Given the description of an element on the screen output the (x, y) to click on. 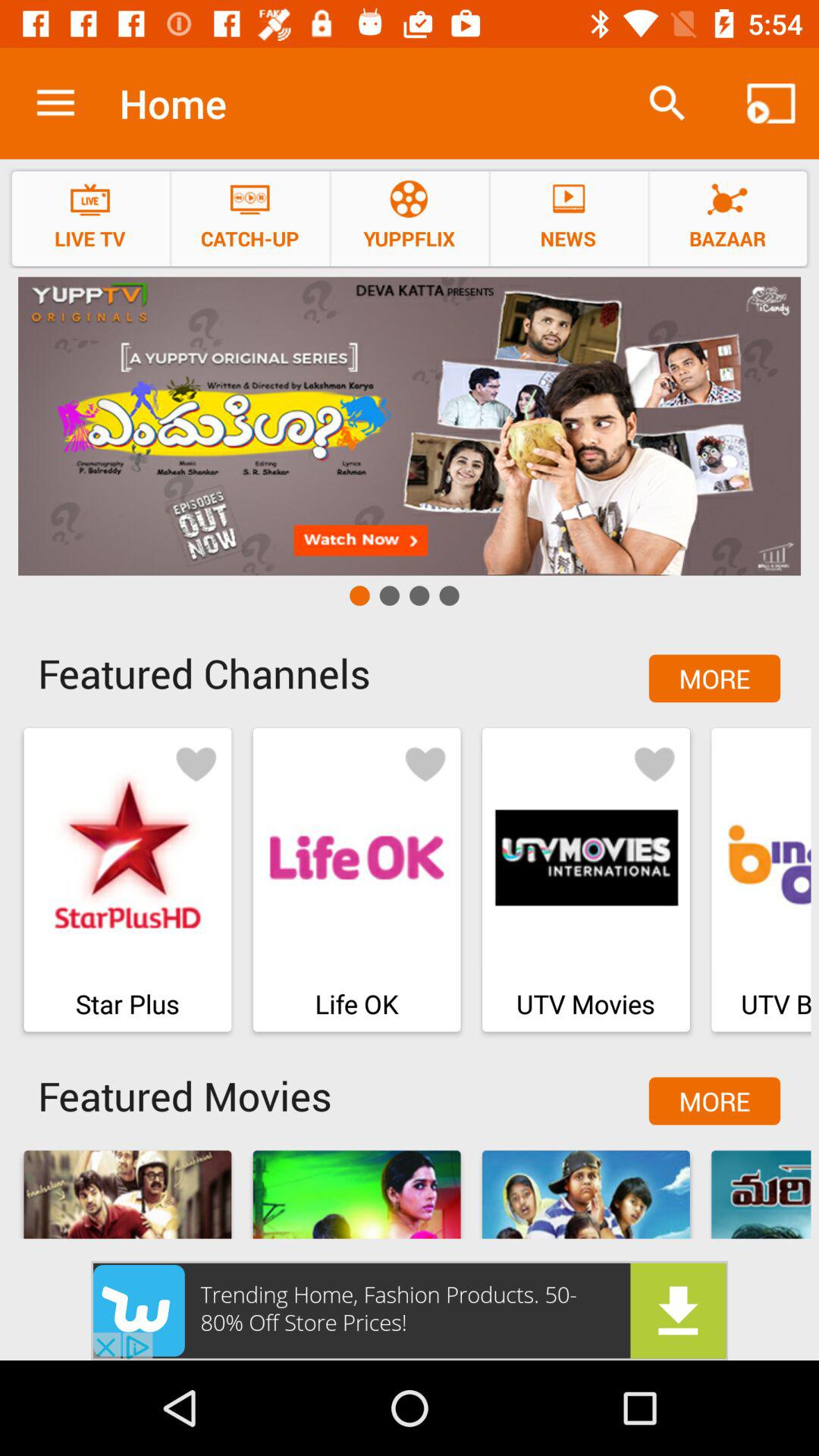
like button (425, 763)
